Given the description of an element on the screen output the (x, y) to click on. 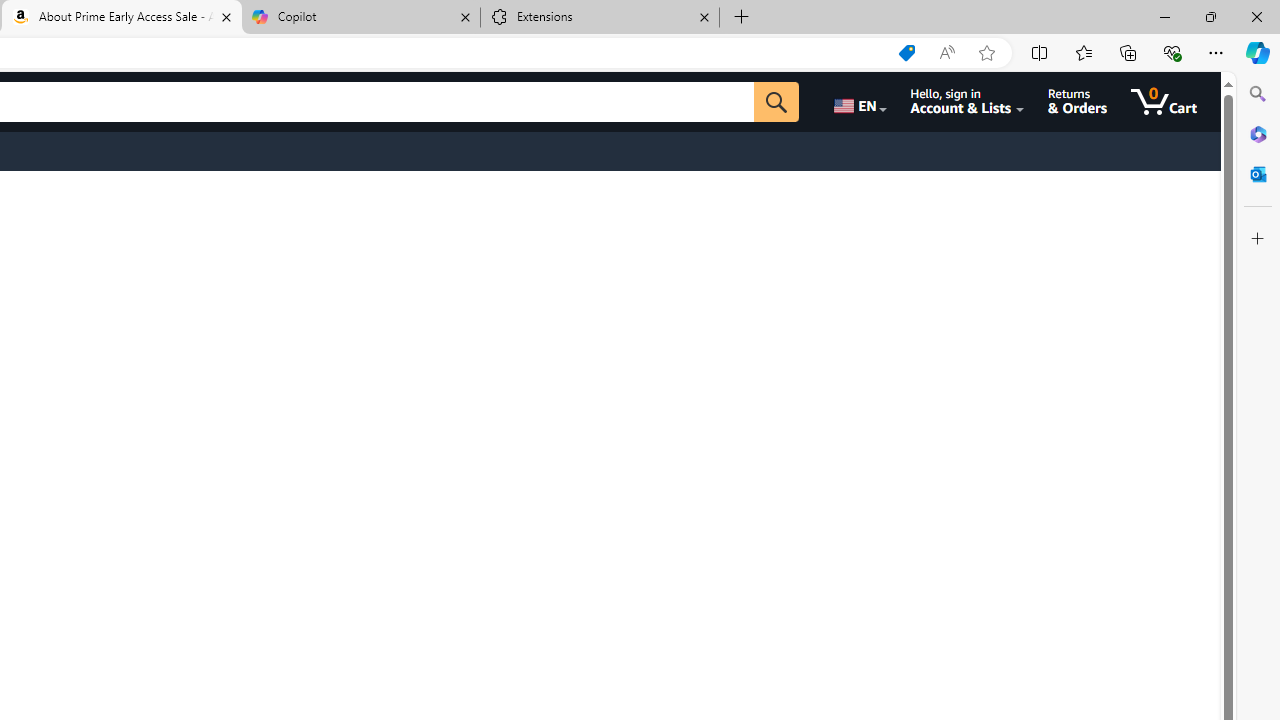
Choose a language for shopping. (858, 101)
Hello, sign in Account & Lists (967, 101)
Go (776, 101)
